Given the description of an element on the screen output the (x, y) to click on. 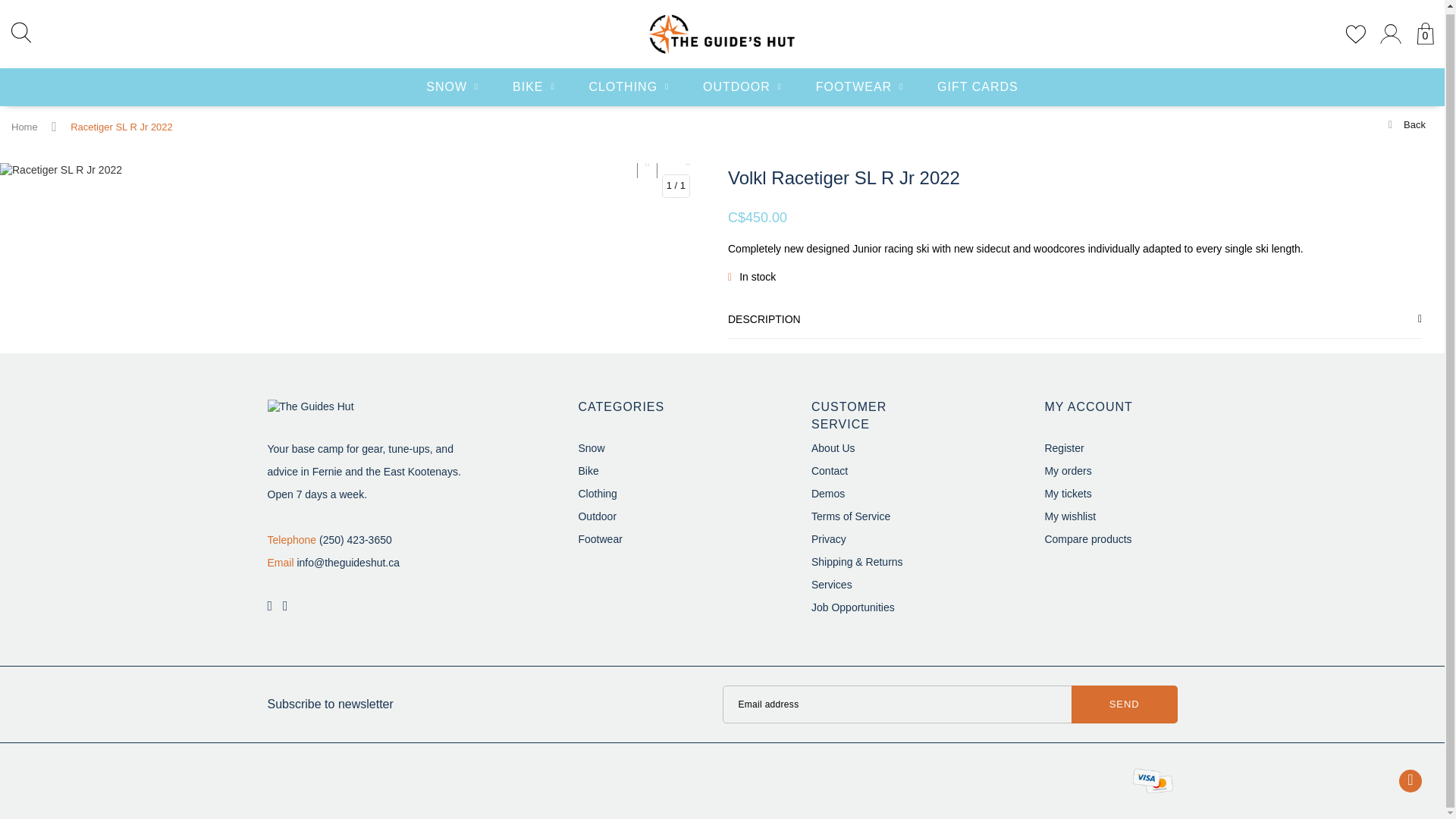
Register (1063, 448)
Gift Cards (977, 84)
My orders (1066, 470)
Home (24, 127)
My wishlist (1069, 516)
My tickets (1066, 493)
Subscribe (1124, 704)
